Given the description of an element on the screen output the (x, y) to click on. 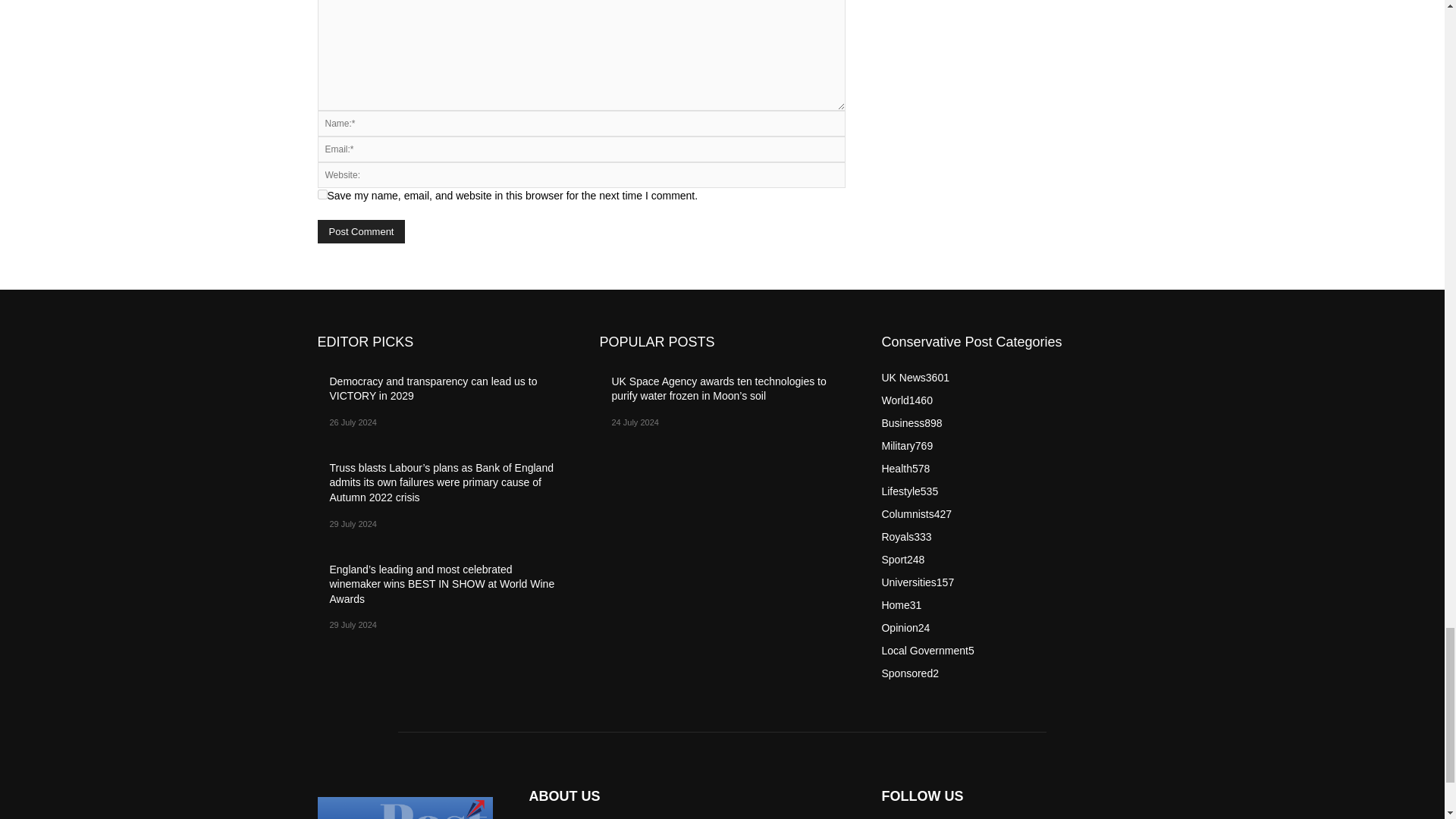
yes (321, 194)
Post Comment (360, 231)
